Given the description of an element on the screen output the (x, y) to click on. 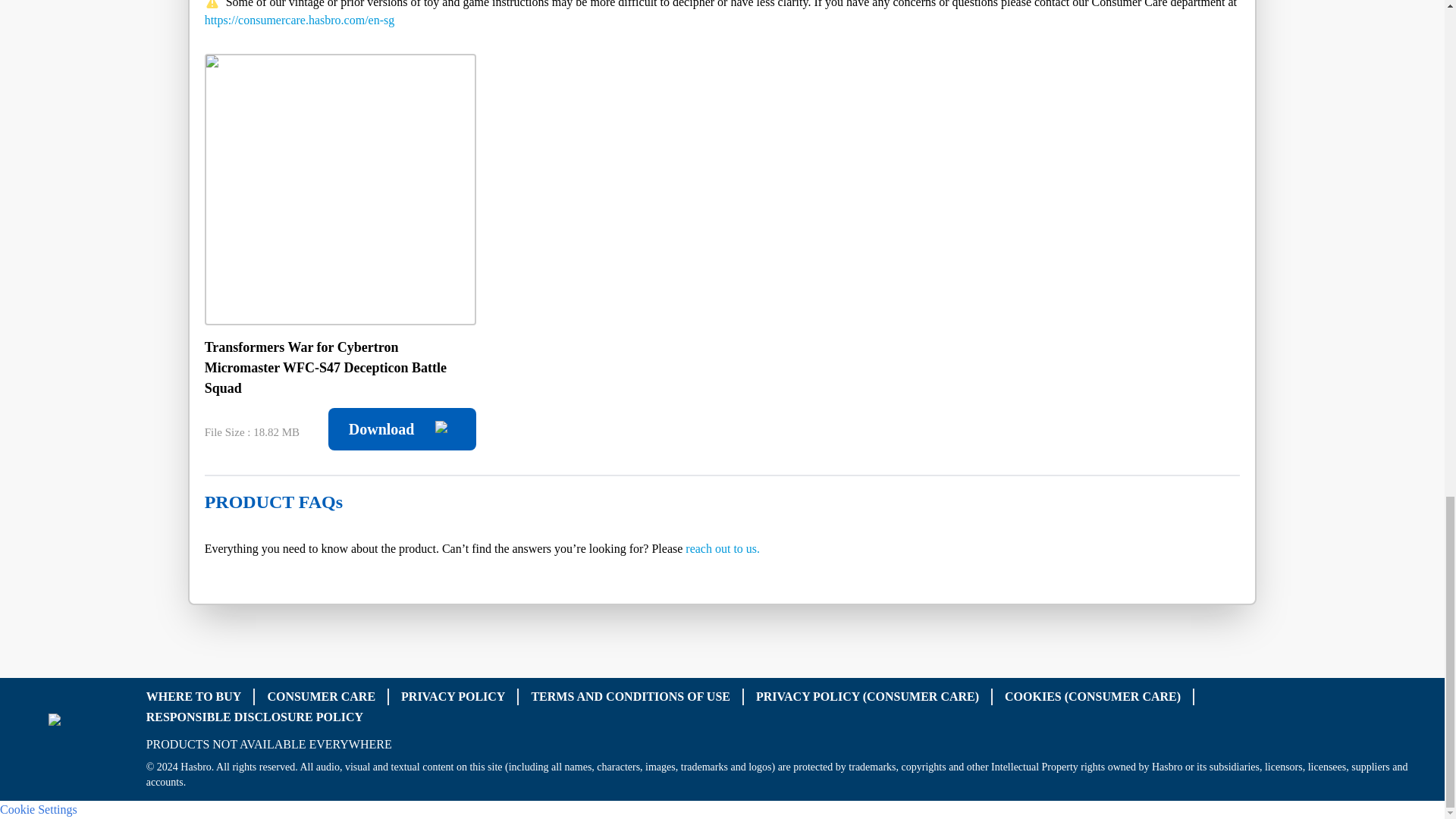
CONSUMER CARE (320, 695)
reach out to us. (722, 548)
Download (402, 428)
TERMS AND CONDITIONS OF USE (630, 695)
RESPONSIBLE DISCLOSURE POLICY (254, 716)
PRIVACY POLICY (453, 695)
WHERE TO BUY (194, 695)
Cookie Settings (38, 809)
